Given the description of an element on the screen output the (x, y) to click on. 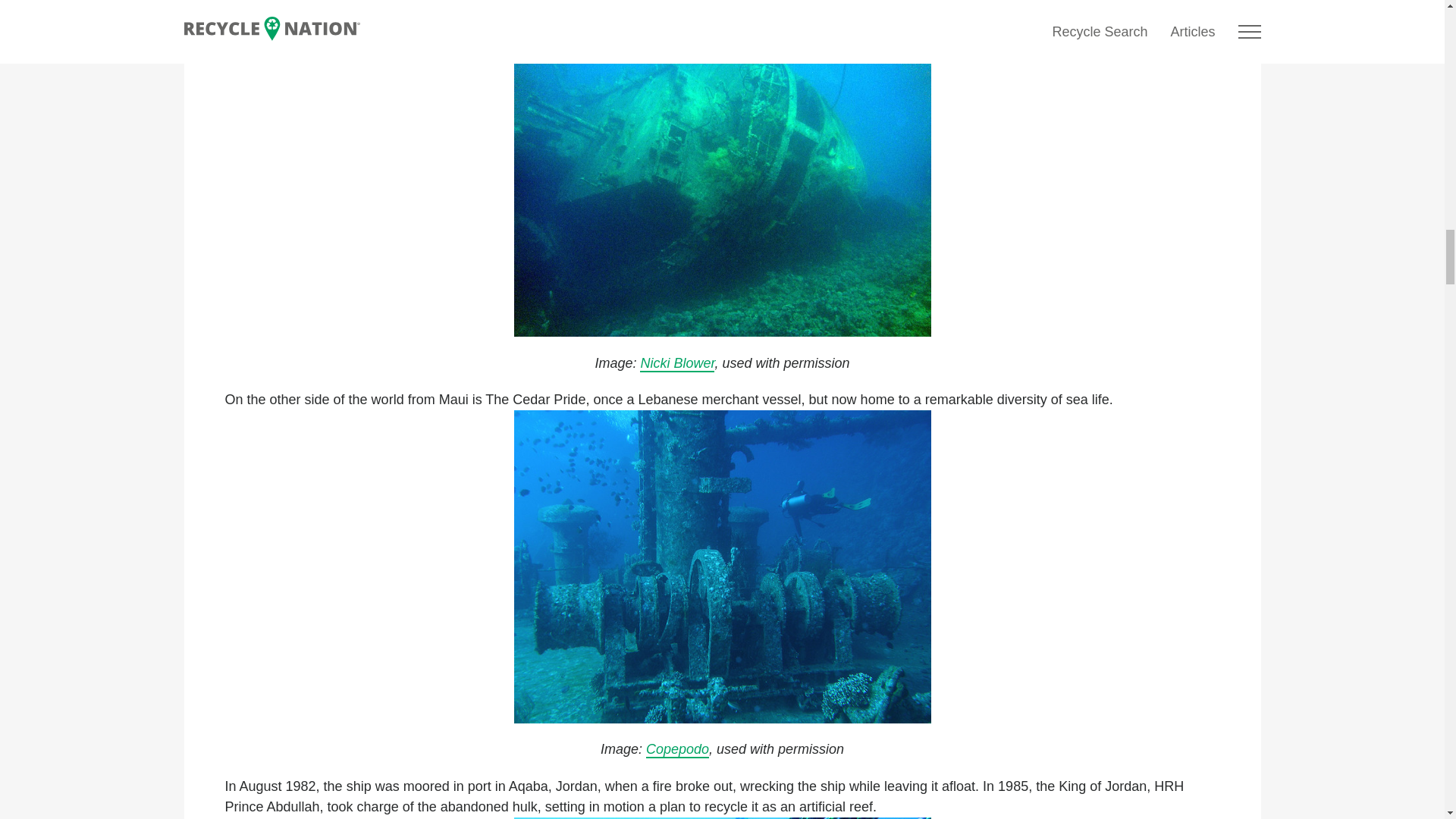
sunken-recycled-vehicle-reef-7 (722, 180)
Copepodo (677, 750)
sunken-recycled-vehicle-reef-8 (722, 566)
Nicki Blower (677, 363)
